Given the description of an element on the screen output the (x, y) to click on. 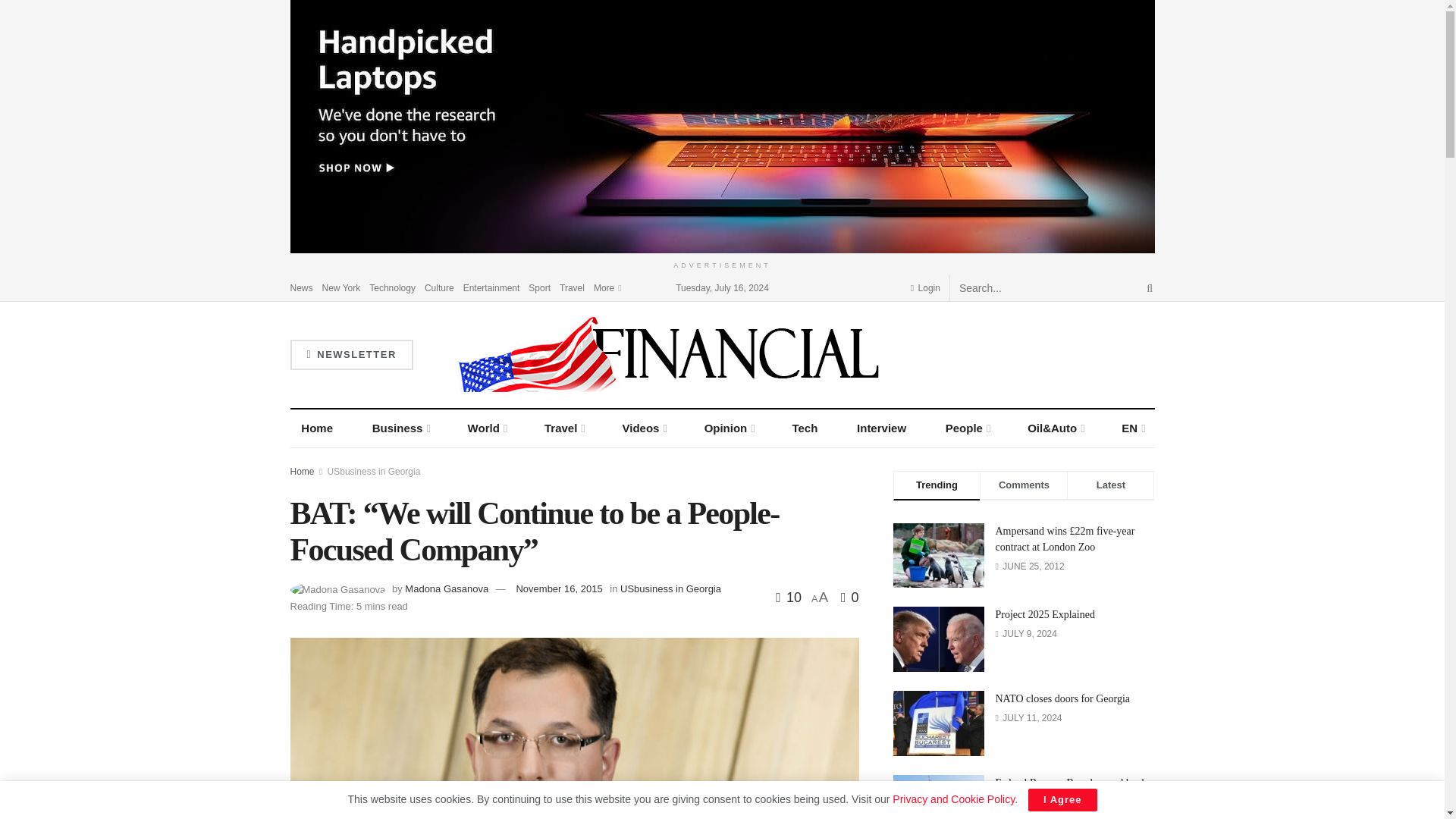
Technology (391, 287)
News (301, 287)
More (607, 287)
Home (316, 428)
Entertainment (491, 287)
NEWSLETTER (350, 354)
Login (925, 287)
Travel (572, 287)
Culture (439, 287)
Sport (539, 287)
New York (341, 287)
Business (400, 428)
World (486, 428)
